Given the description of an element on the screen output the (x, y) to click on. 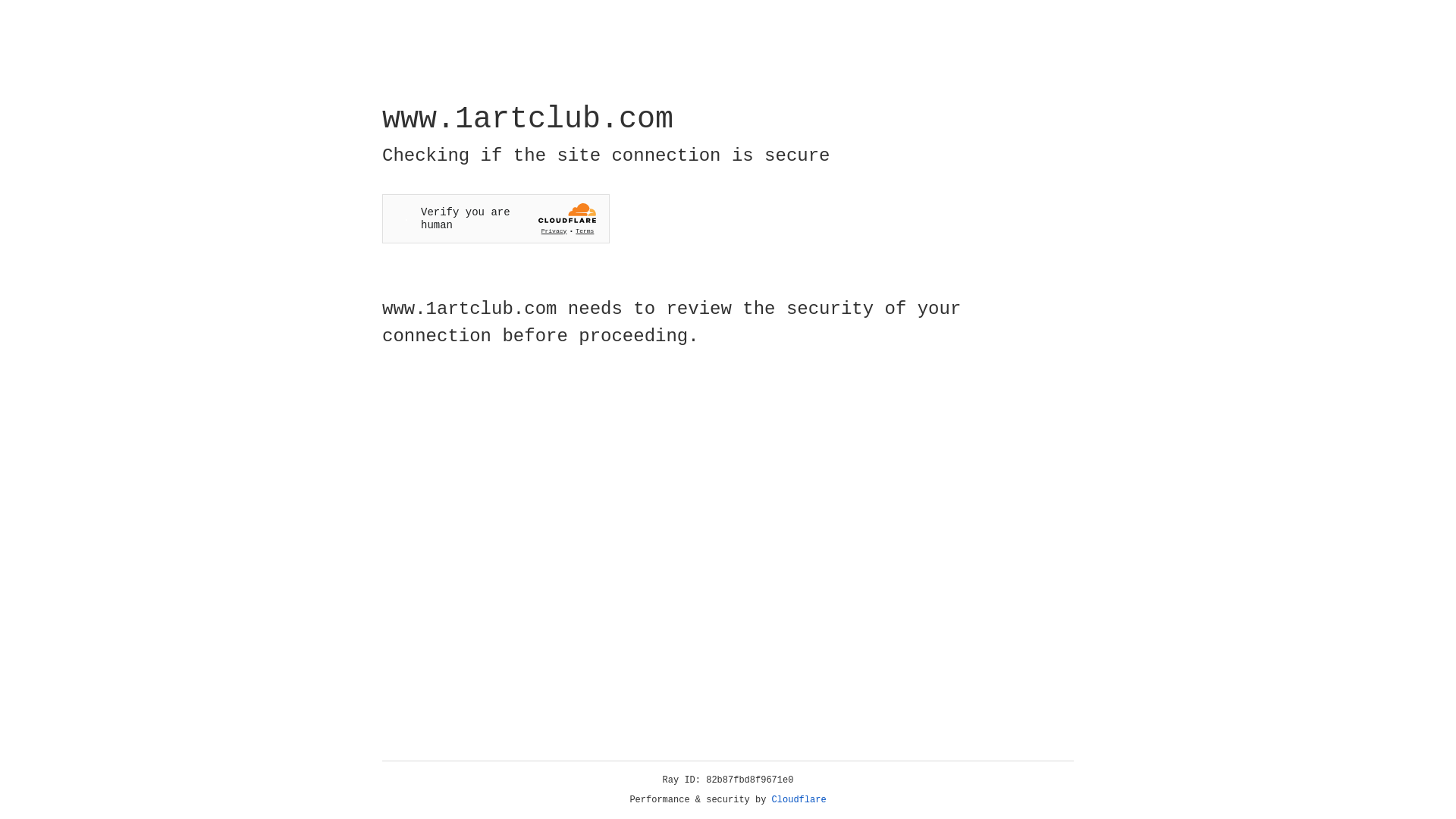
Widget containing a Cloudflare security challenge Element type: hover (495, 218)
Cloudflare Element type: text (798, 799)
